Given the description of an element on the screen output the (x, y) to click on. 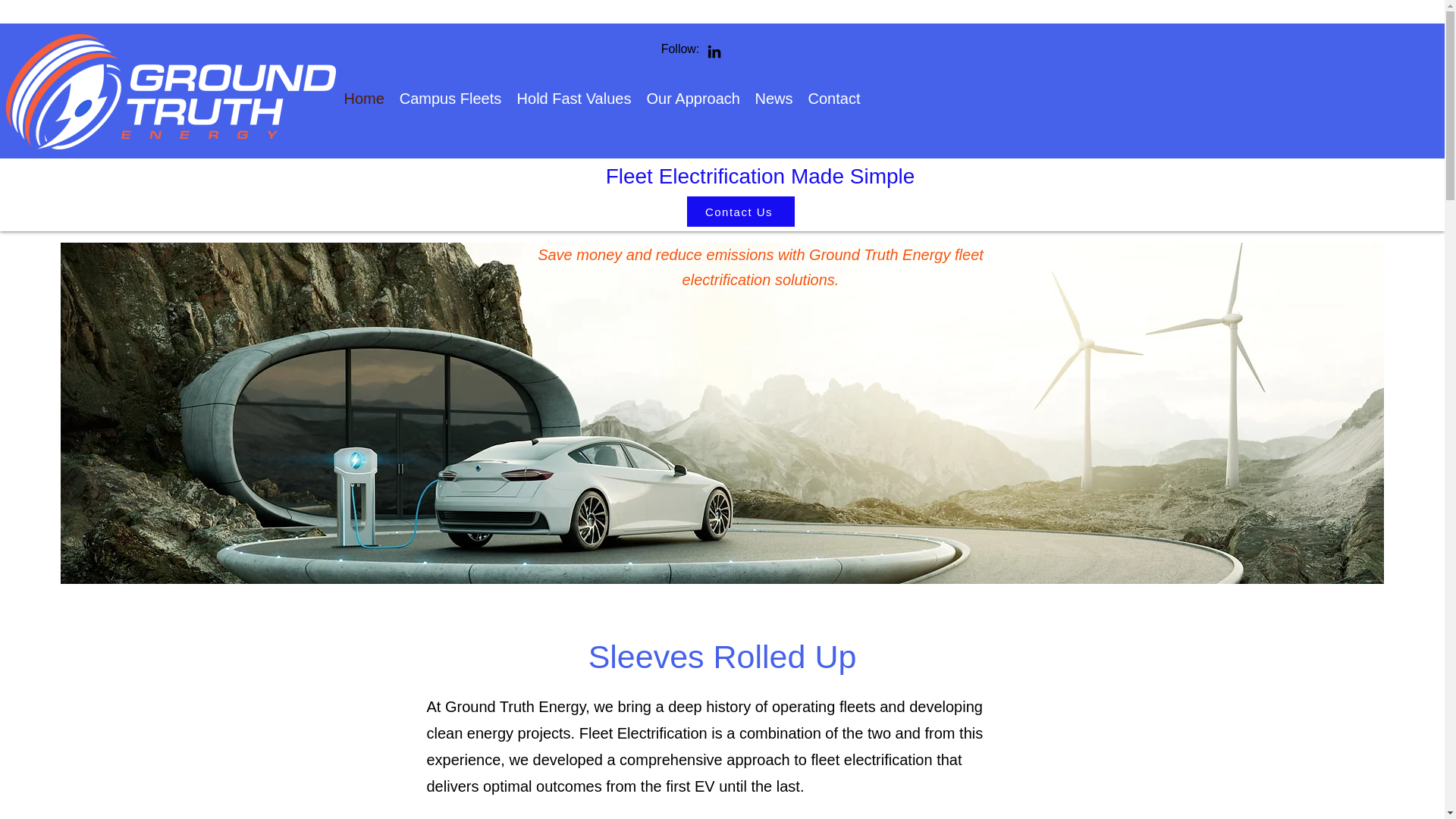
Contact Us (740, 211)
Campus Fleets (449, 98)
Our Approach (692, 98)
News (774, 98)
Hold Fast Values (574, 98)
Contact (833, 98)
Home (363, 98)
